Given the description of an element on the screen output the (x, y) to click on. 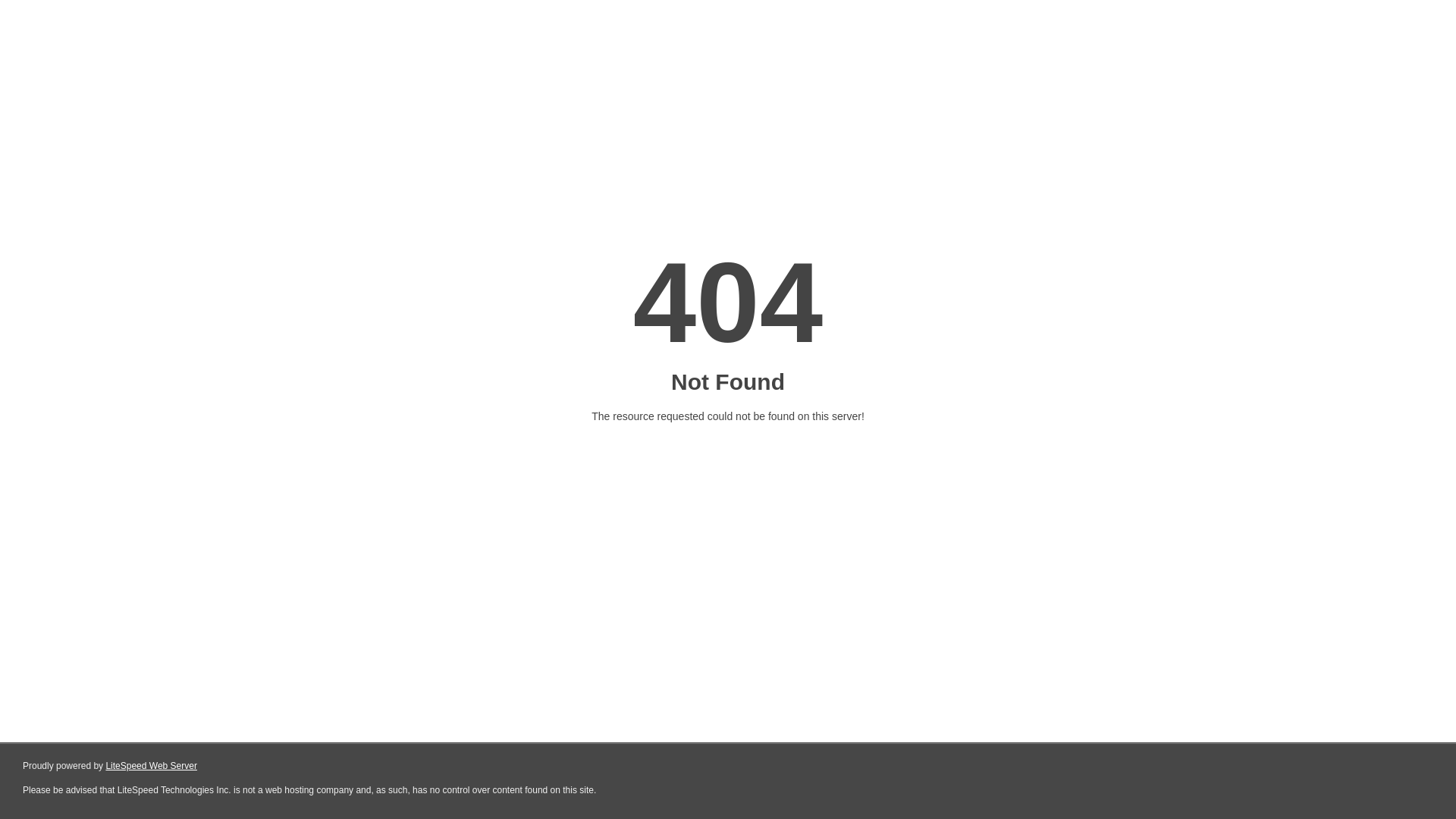
LiteSpeed Web Server Element type: text (151, 765)
